Given the description of an element on the screen output the (x, y) to click on. 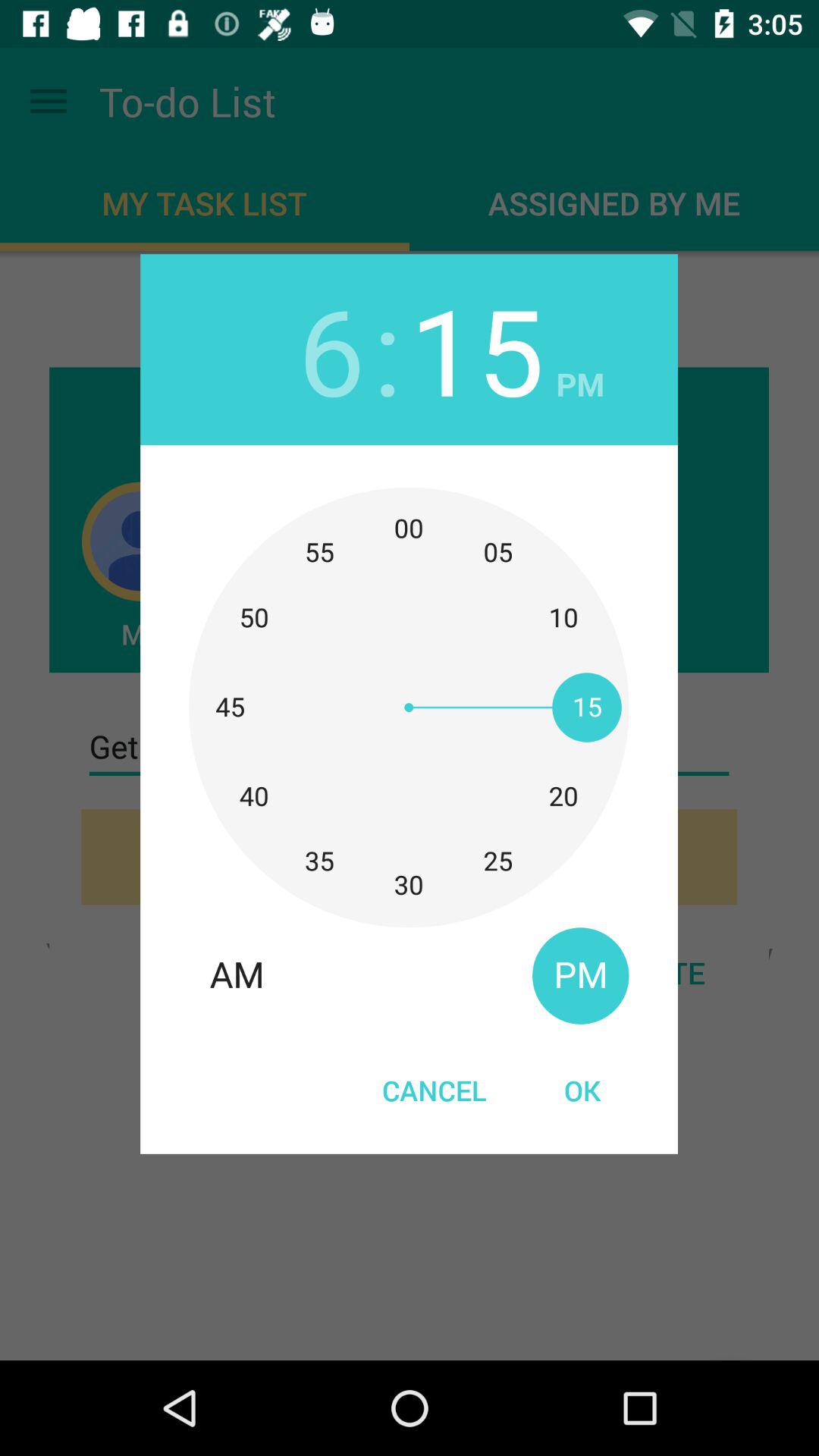
turn off item next to the : item (477, 349)
